Given the description of an element on the screen output the (x, y) to click on. 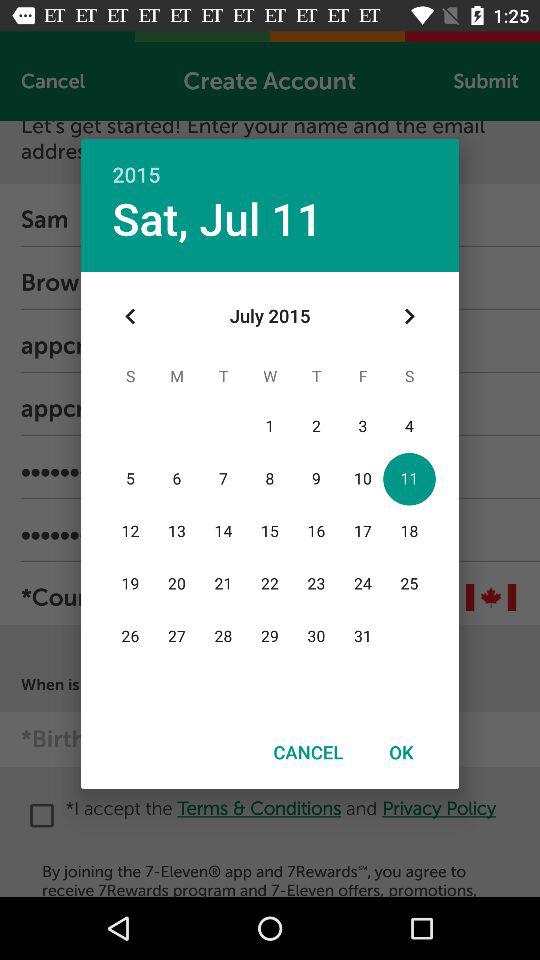
tap sat, jul 11 (217, 218)
